Given the description of an element on the screen output the (x, y) to click on. 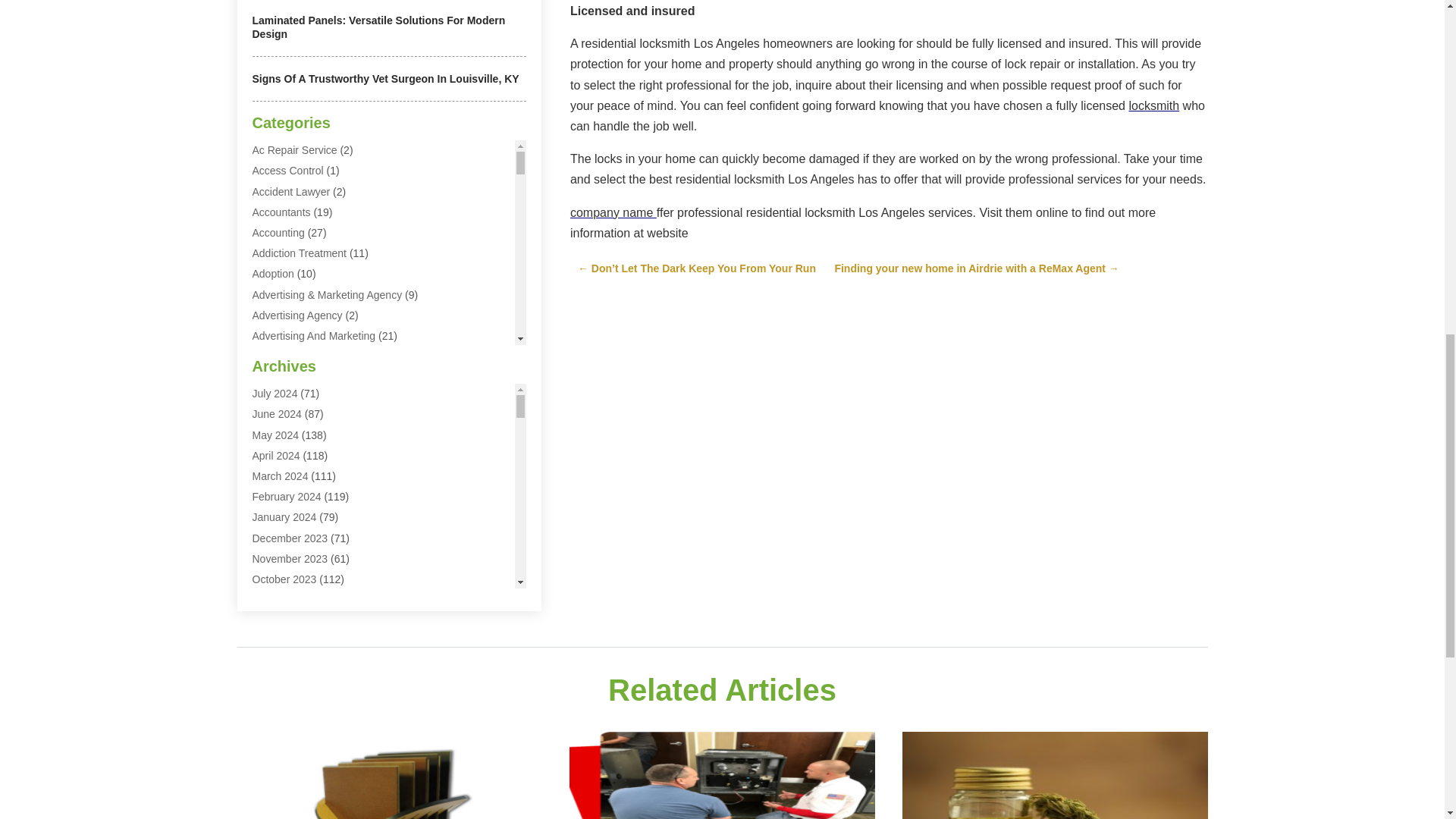
Air Conditioning Contractor (314, 439)
Agricultural Service (297, 356)
Air Conditioning (288, 418)
Accountants (280, 212)
Signs Of A Trustworthy Vet Surgeon In Louisville, KY (384, 78)
Advertising Agency (296, 315)
Accounting (277, 232)
Access Control (287, 170)
Air Conditioners (289, 397)
Laminated Panels: Versatile Solutions For Modern Design (378, 27)
Advertising And Marketing (313, 336)
Accident Lawyer (290, 191)
Addiction Treatment (298, 253)
Ac Repair Service (293, 150)
Adoption (272, 273)
